Given the description of an element on the screen output the (x, y) to click on. 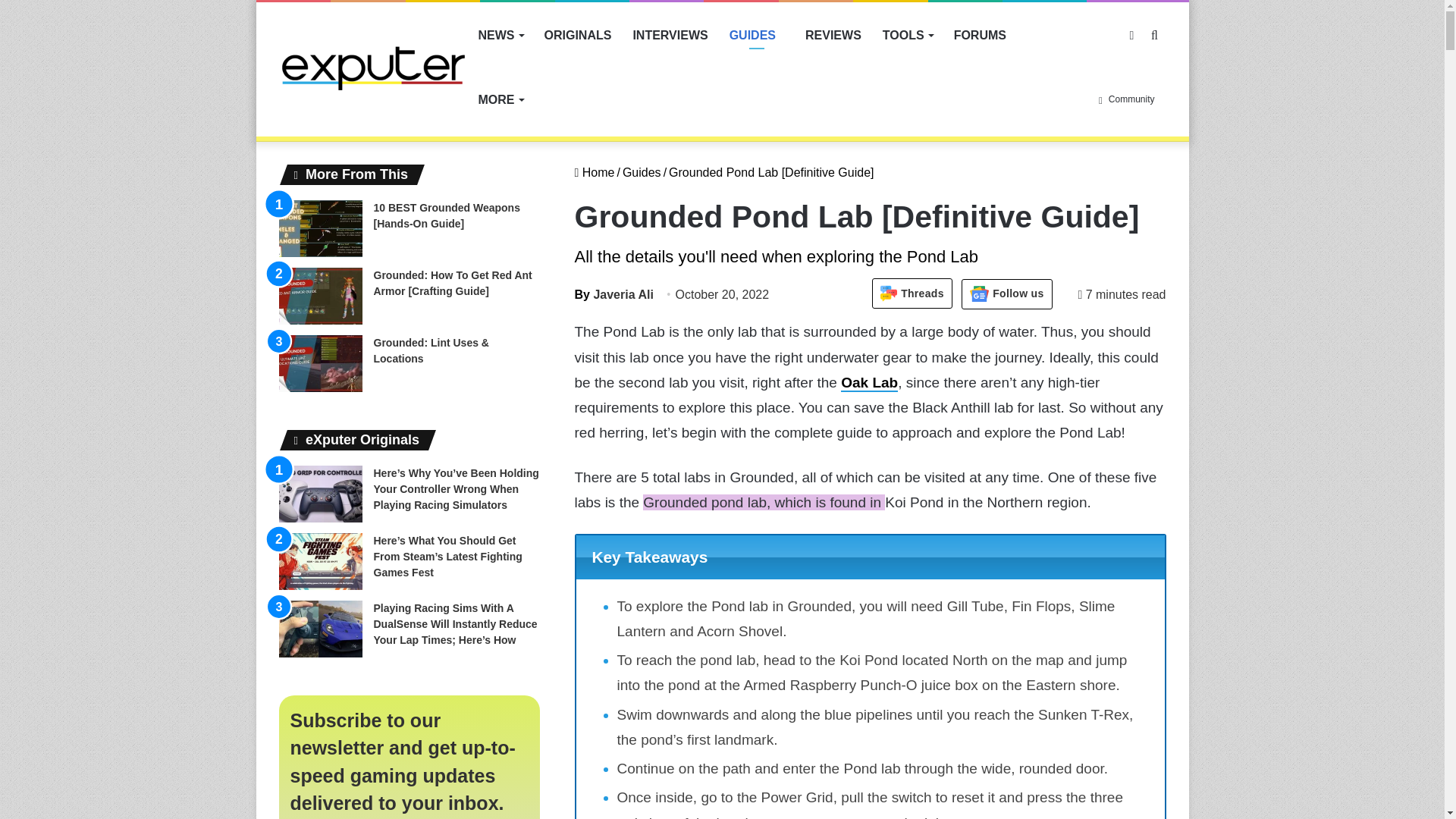
REVIEWS (833, 35)
TOOLS (907, 35)
INTERVIEWS (669, 35)
ORIGINALS (578, 35)
GUIDES (756, 35)
Javeria Ali (614, 294)
Switch skin (1131, 35)
NEWS (499, 35)
eXputer.com (373, 66)
FORUMS (979, 35)
MORE (499, 99)
